Given the description of an element on the screen output the (x, y) to click on. 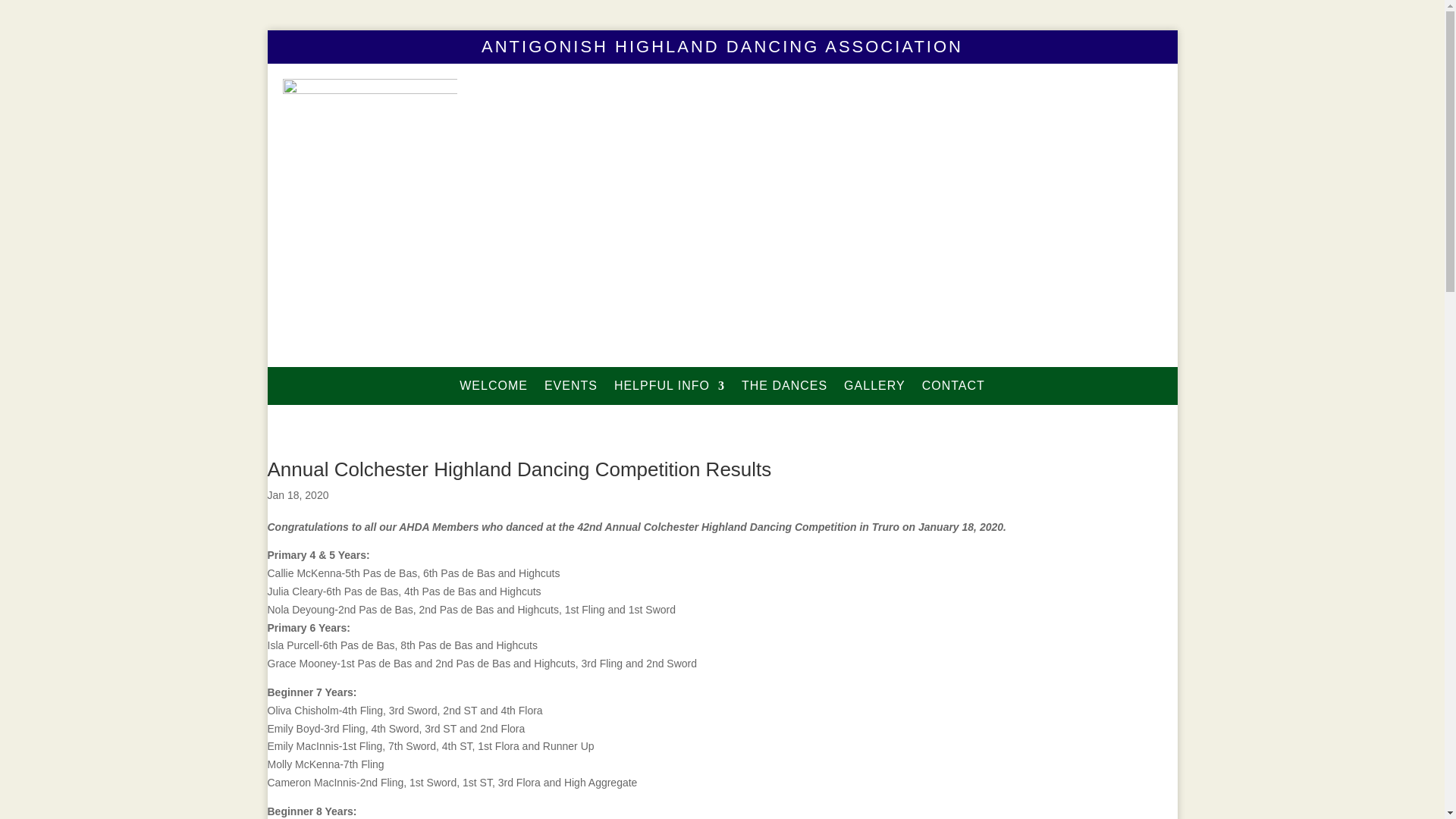
HELPFUL INFO Element type: text (669, 388)
WELCOME Element type: text (493, 388)
GALLERY Element type: text (874, 388)
THE DANCES Element type: text (784, 388)
CONTACT Element type: text (953, 388)
logo_ahda_300x300px Element type: hover (369, 165)
EVENTS Element type: text (570, 388)
